Given the description of an element on the screen output the (x, y) to click on. 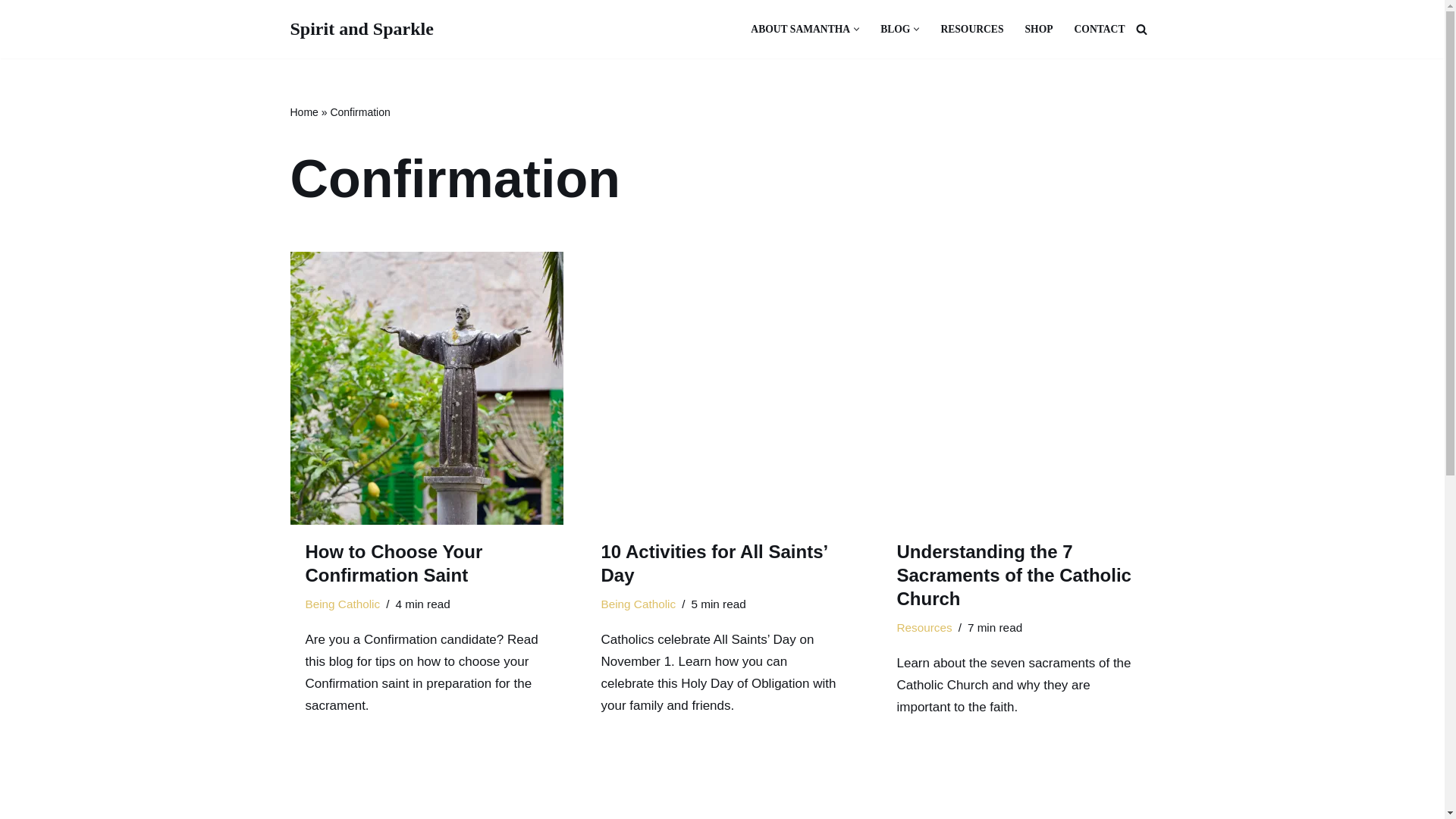
RESOURCES (971, 28)
Understanding the 7 Sacraments of the Catholic Church (1017, 387)
CONTACT (1099, 28)
BLOG (895, 28)
How to Choose Your Confirmation Saint (392, 563)
ABOUT SAMANTHA (800, 28)
SHOP (1038, 28)
Being Catholic (342, 603)
Skip to content (11, 31)
Prayers for Confirmation (425, 795)
